Given the description of an element on the screen output the (x, y) to click on. 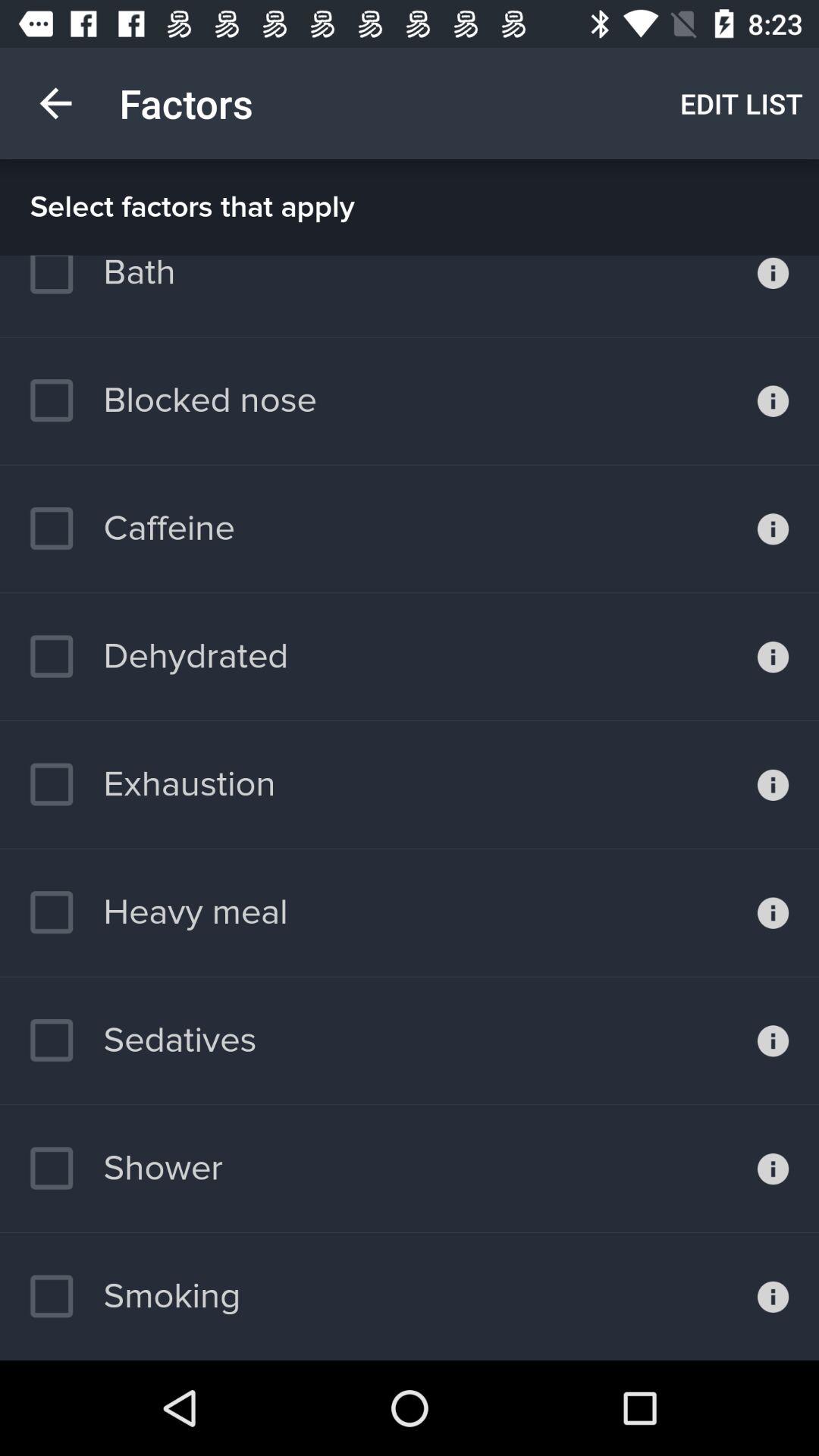
click the sedatives item (143, 1040)
